Given the description of an element on the screen output the (x, y) to click on. 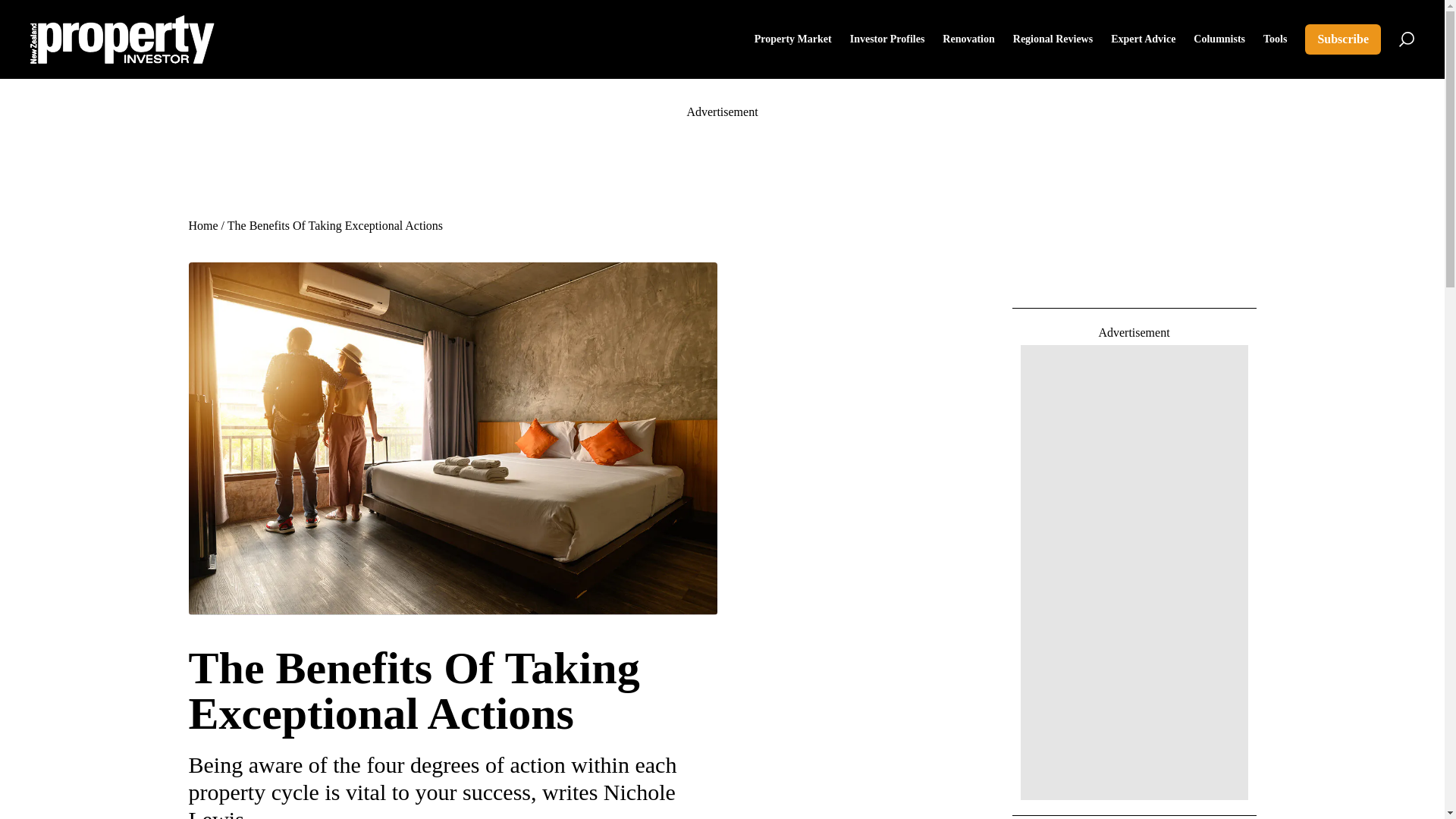
Expert Advice (1142, 39)
Subscribe (1342, 39)
Regional Reviews (1053, 39)
Columnists (1218, 39)
Investor Profiles (887, 39)
3rd party ad content (721, 158)
Property Market (792, 39)
Home (201, 225)
Renovation (968, 39)
Tools (1275, 39)
